Given the description of an element on the screen output the (x, y) to click on. 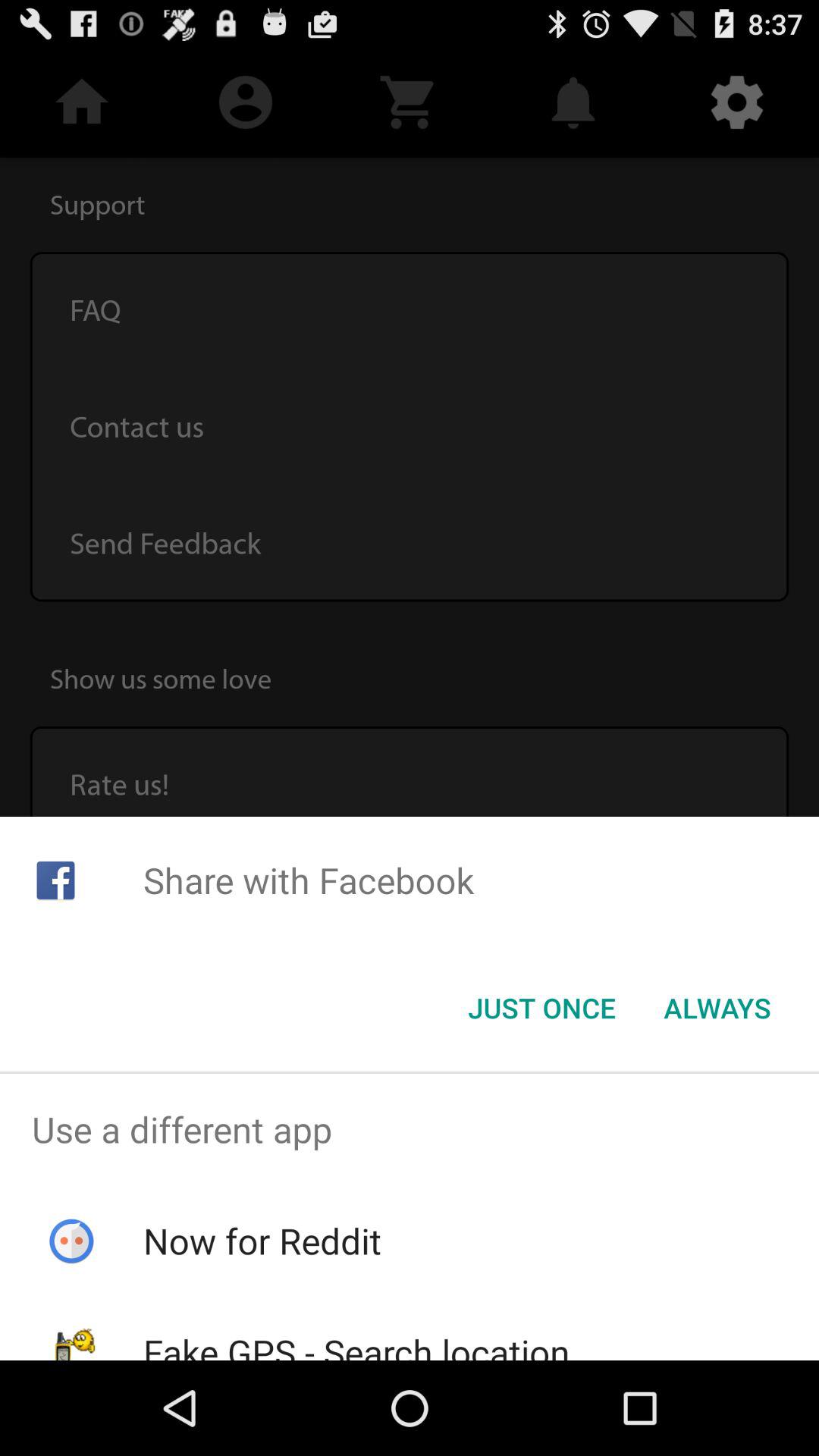
turn on use a different app (409, 1129)
